Given the description of an element on the screen output the (x, y) to click on. 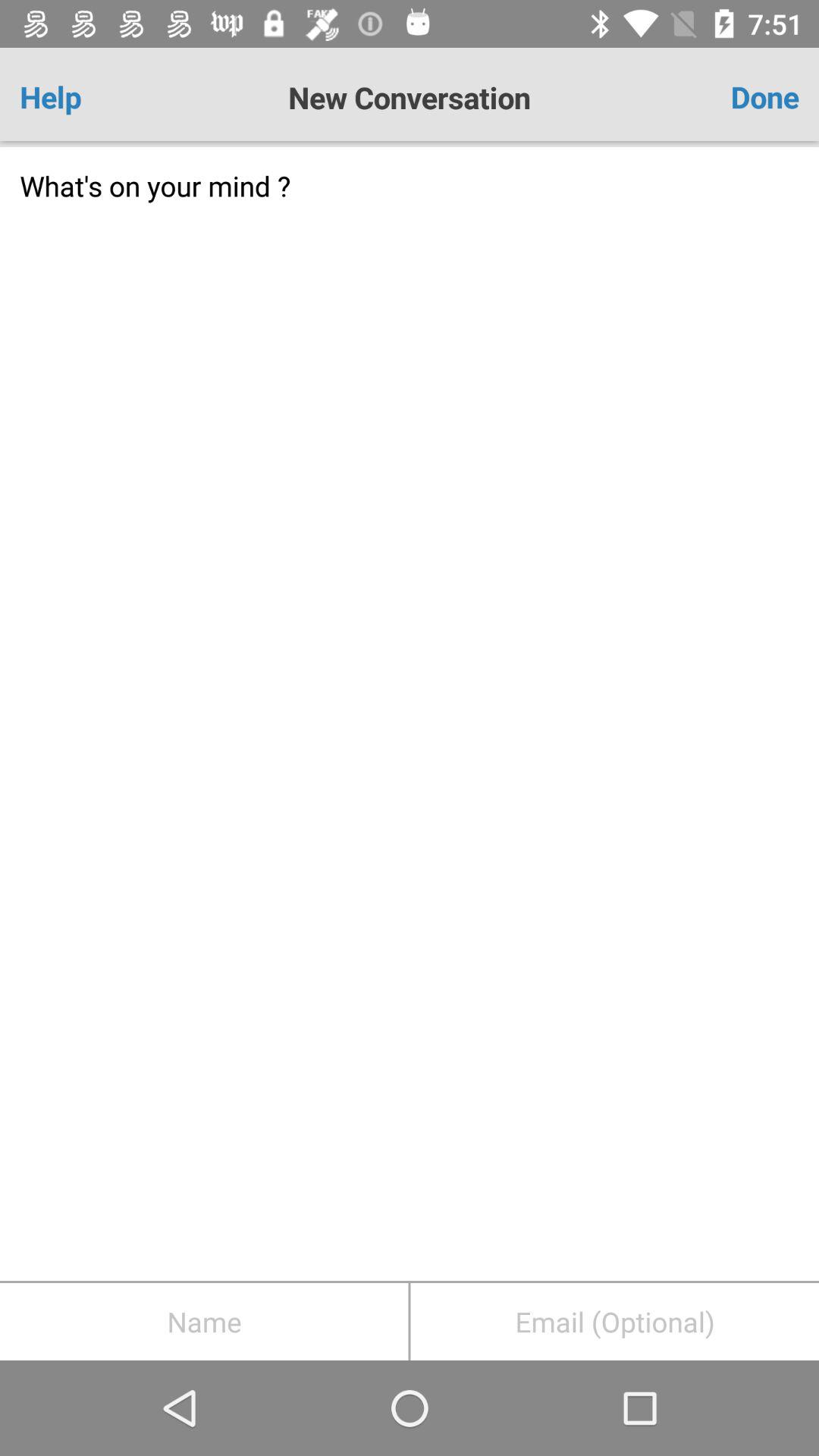
choose icon to the left of new conversation (83, 97)
